Given the description of an element on the screen output the (x, y) to click on. 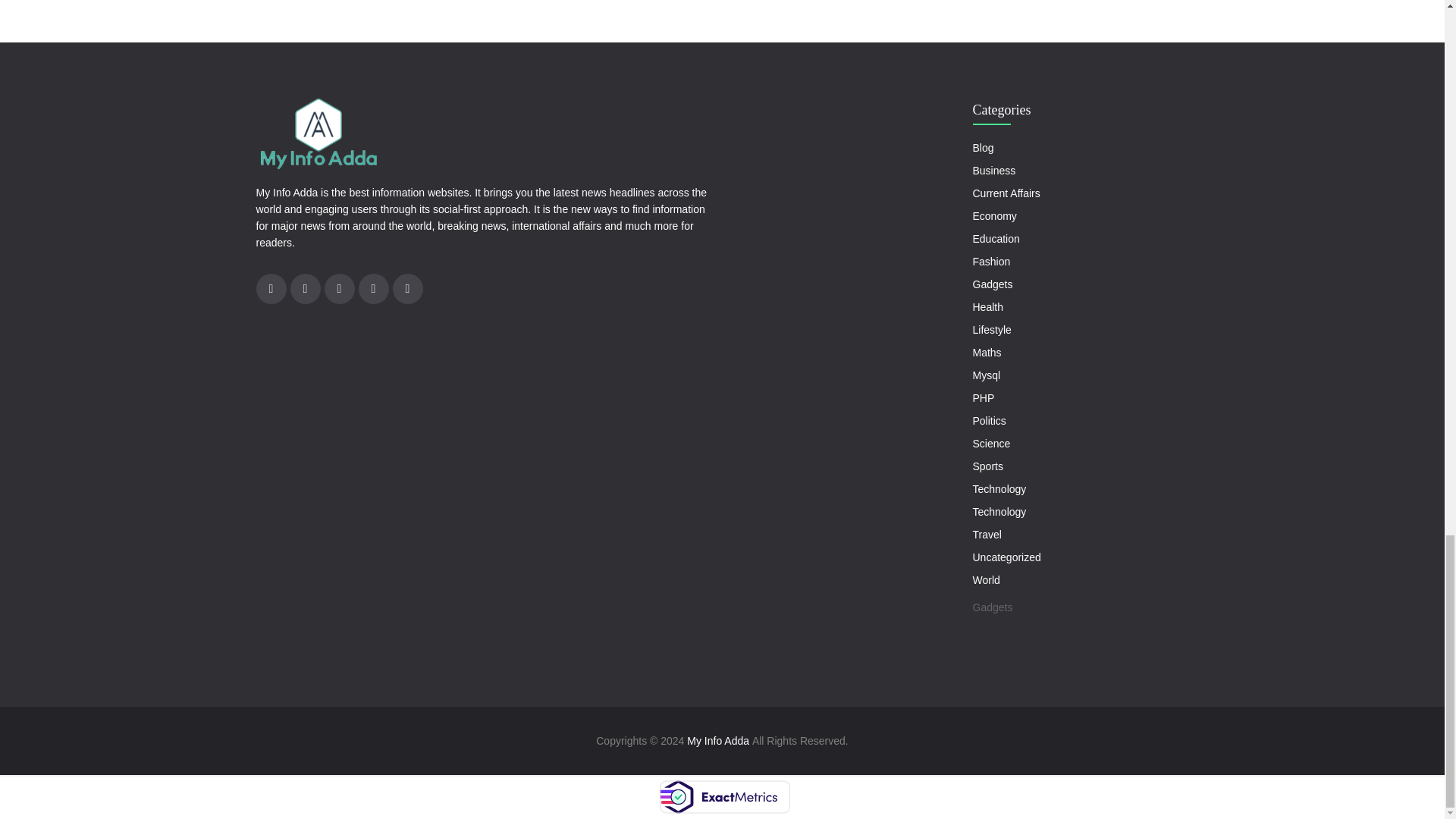
ion-social-twitter (339, 288)
ion-social-facebook (271, 288)
ion-social-googleplus (304, 288)
ion-social-instagram (373, 288)
ion-social-pinterest (408, 288)
